Given the description of an element on the screen output the (x, y) to click on. 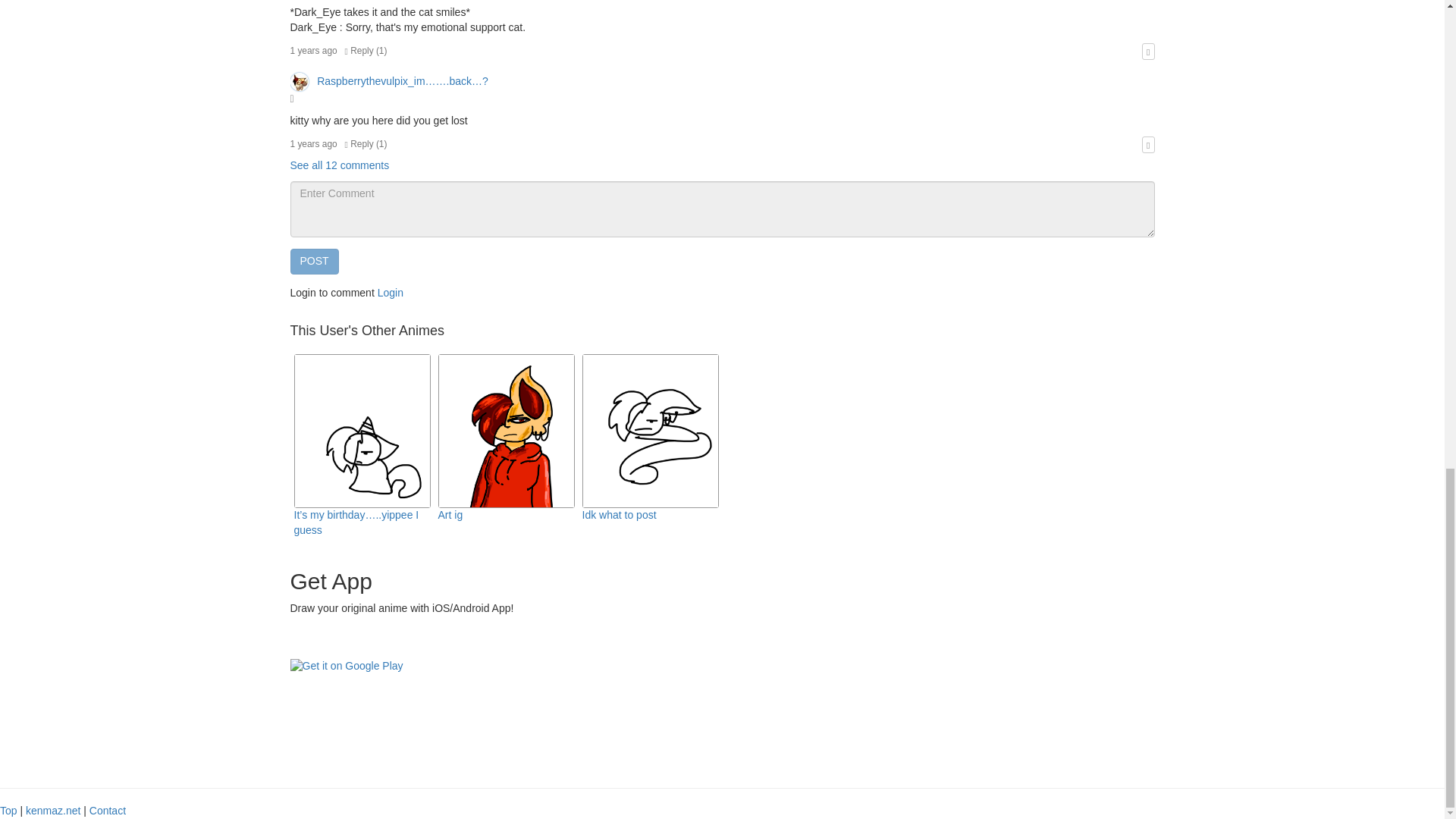
POST (313, 261)
POST (313, 261)
Login (390, 292)
See all 12 comments (338, 164)
